Given the description of an element on the screen output the (x, y) to click on. 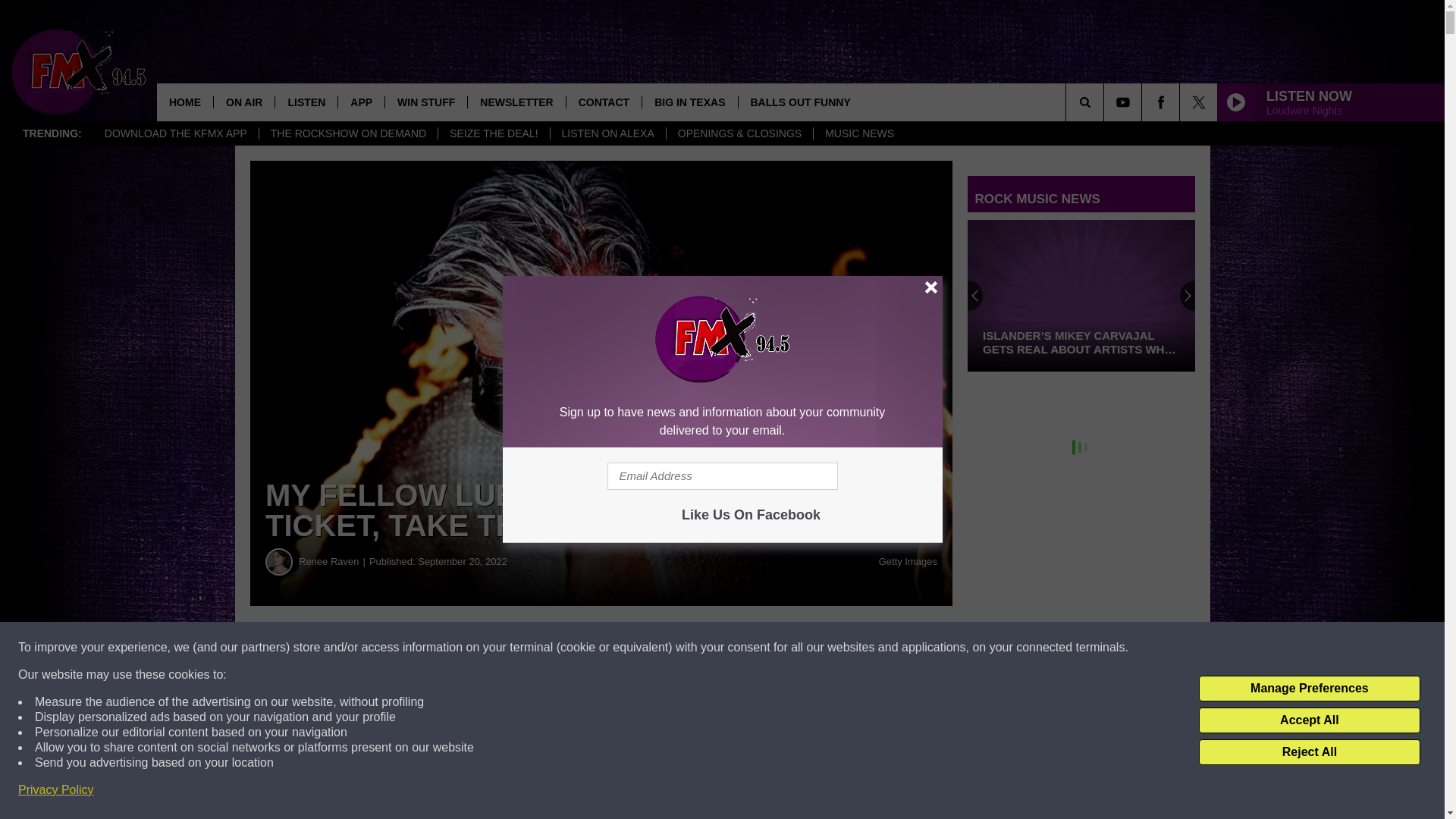
WIN STUFF (425, 102)
MUSIC NEWS (858, 133)
Accept All (1309, 720)
TRENDING: (52, 133)
DOWNLOAD THE KFMX APP (176, 133)
Manage Preferences (1309, 688)
Privacy Policy (55, 789)
LISTEN ON ALEXA (607, 133)
HOME (184, 102)
SEARCH (1106, 102)
SEARCH (1106, 102)
APP (360, 102)
SEIZE THE DEAL! (493, 133)
Share on Twitter (741, 647)
Email Address (722, 475)
